Given the description of an element on the screen output the (x, y) to click on. 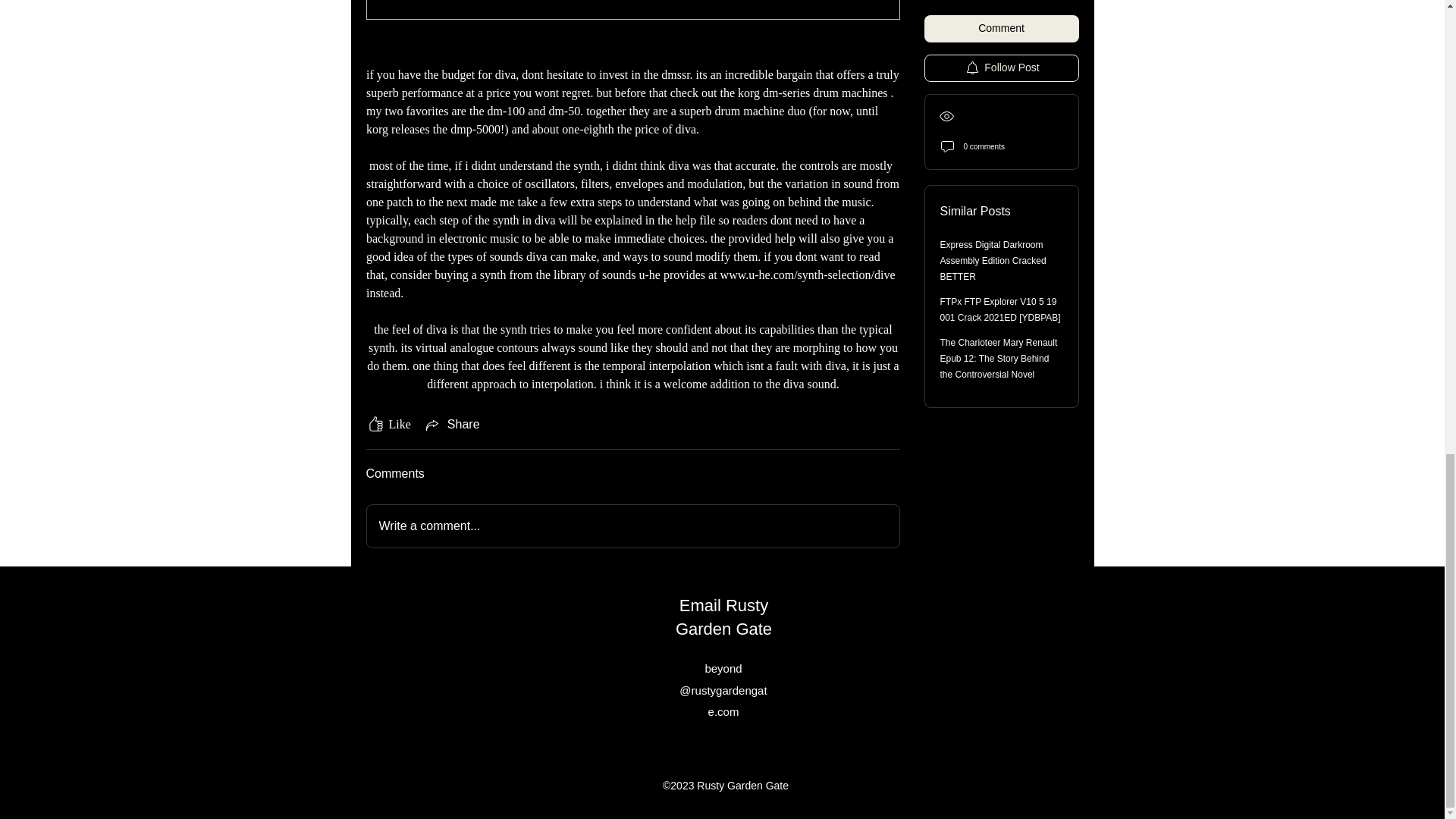
Like (387, 424)
Write a comment... (632, 526)
Share (451, 424)
